Given the description of an element on the screen output the (x, y) to click on. 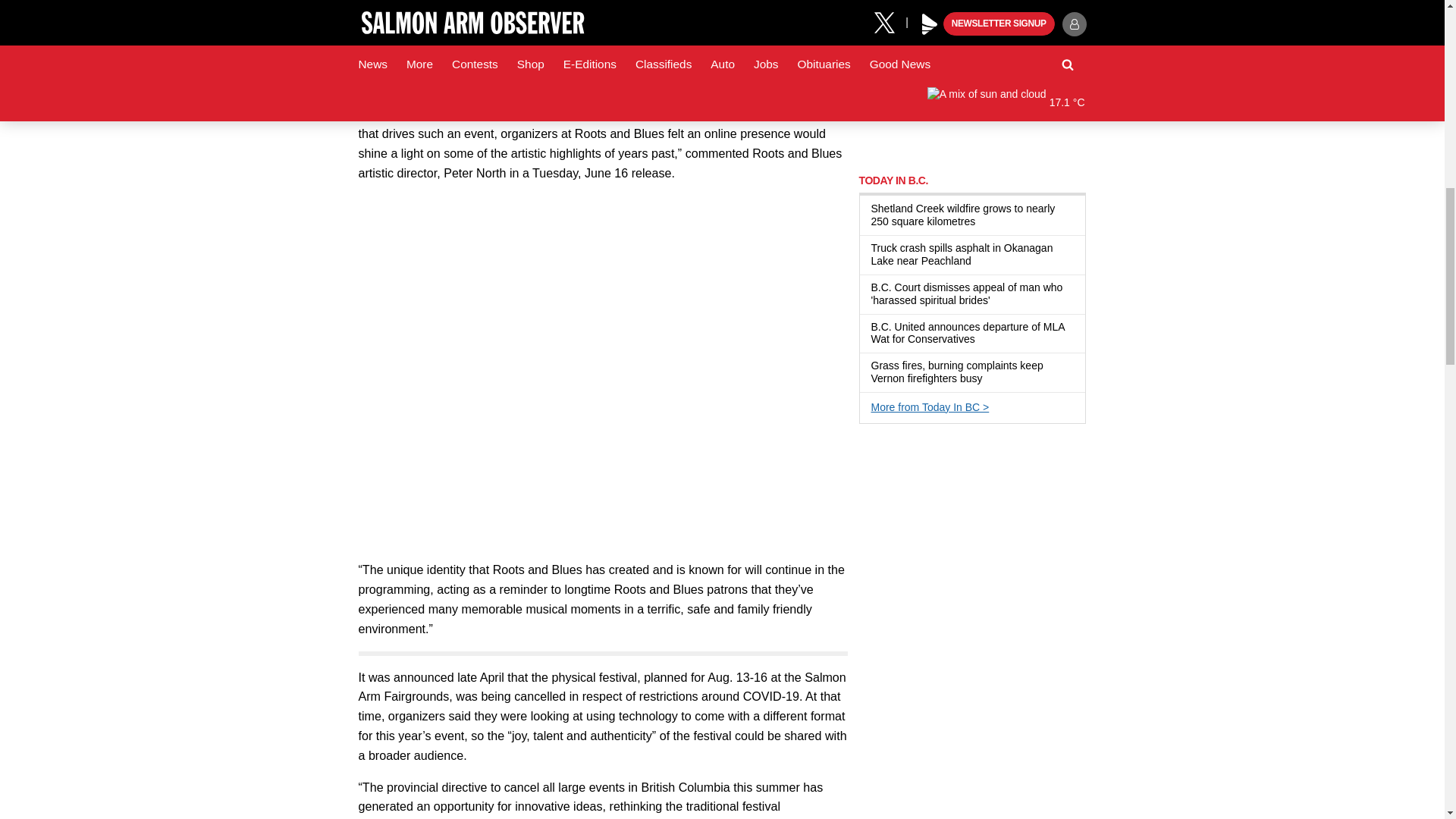
Has a gallery (984, 222)
